Given the description of an element on the screen output the (x, y) to click on. 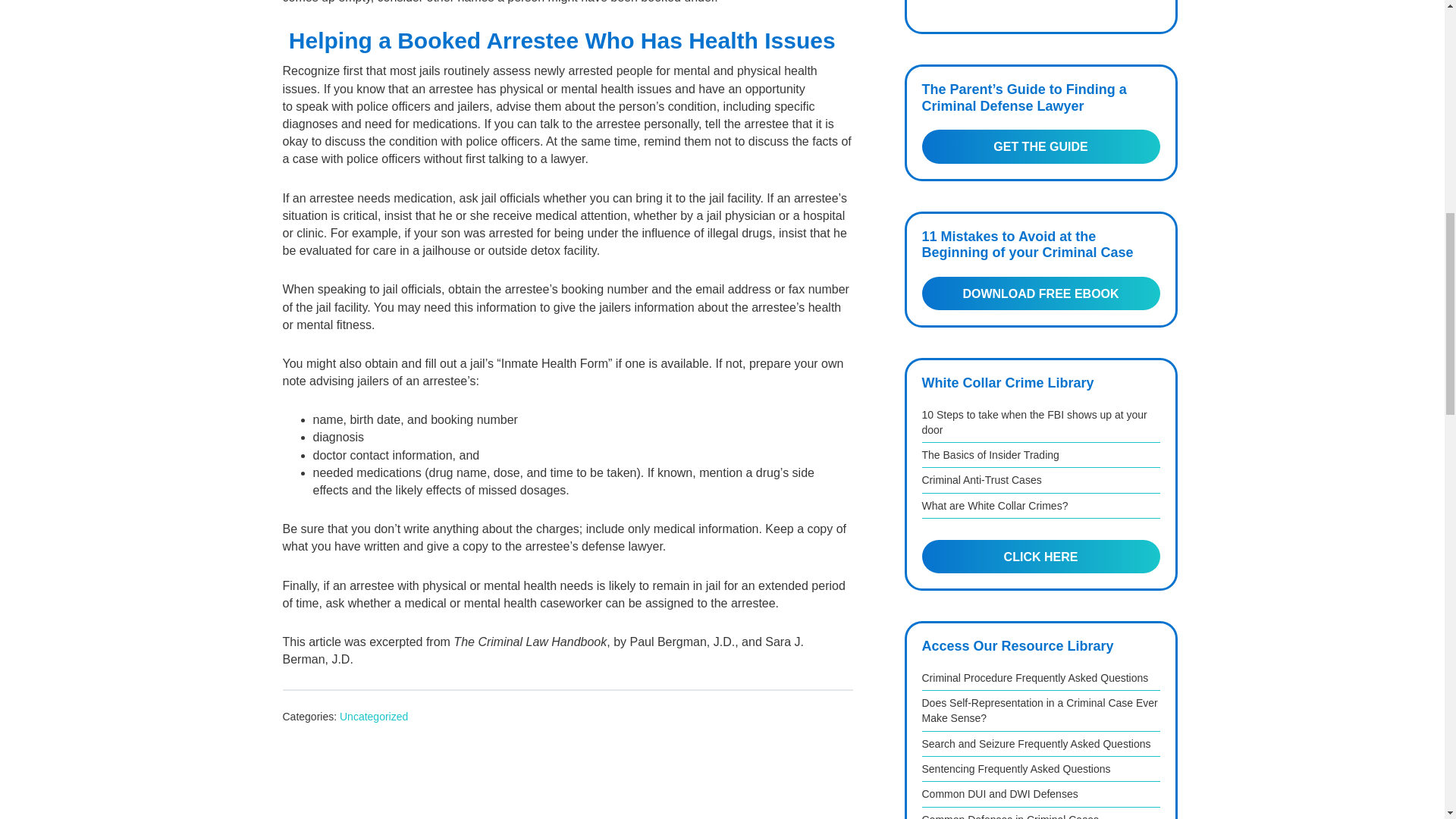
GET THE GUIDE (1040, 145)
Uncategorized (373, 716)
CLICK HERE (1040, 556)
DOWNLOAD FREE EBOOK (1040, 293)
